Given the description of an element on the screen output the (x, y) to click on. 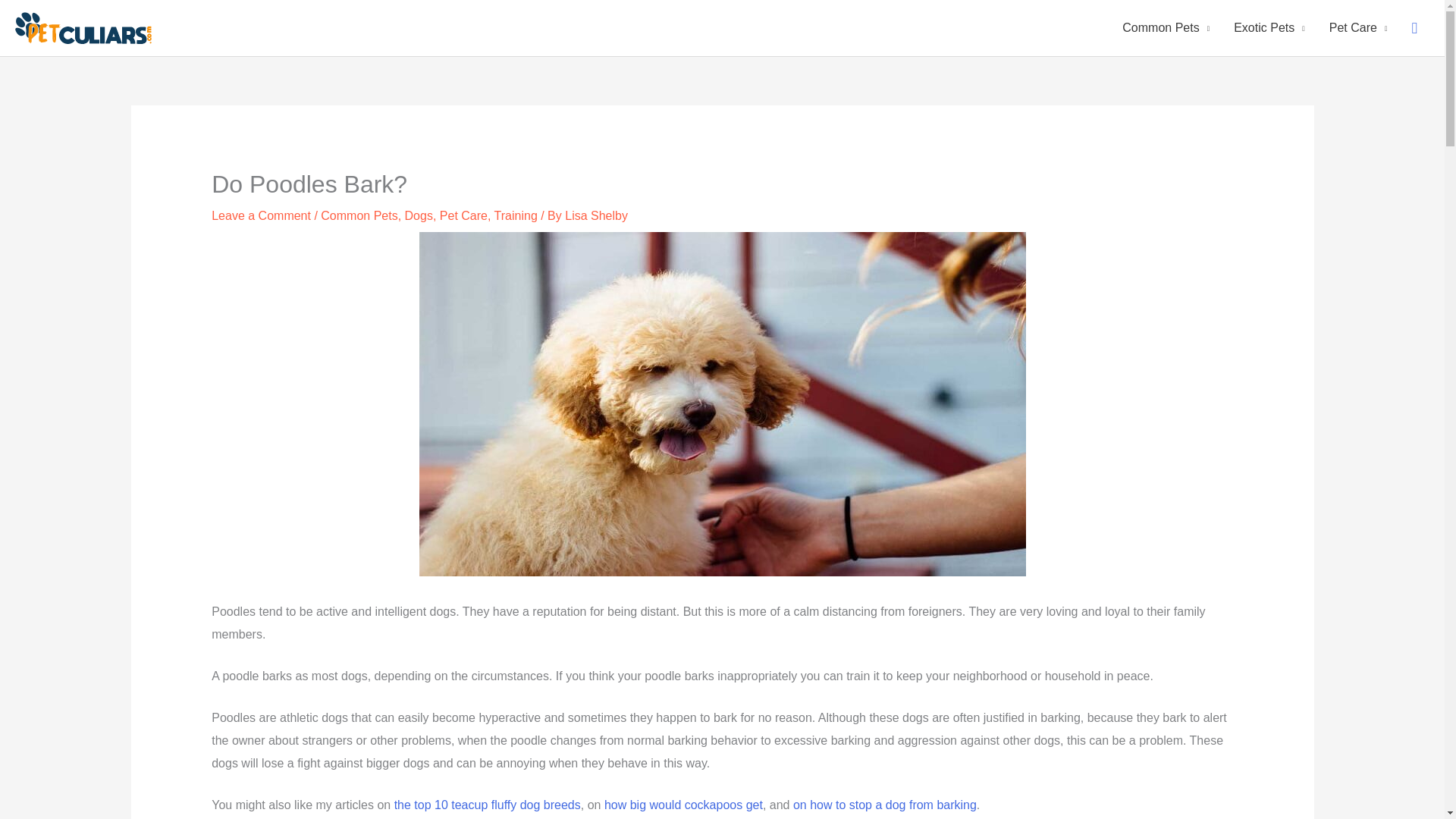
Pet Care (1358, 28)
View all posts by Lisa Shelby (595, 215)
Pet Care (463, 215)
Leave a Comment (261, 215)
Common Pets (358, 215)
the top 10 teacup fluffy dog breeds (487, 804)
on how to stop a dog from barking (884, 804)
Training (516, 215)
Exotic Pets (1269, 28)
